Given the description of an element on the screen output the (x, y) to click on. 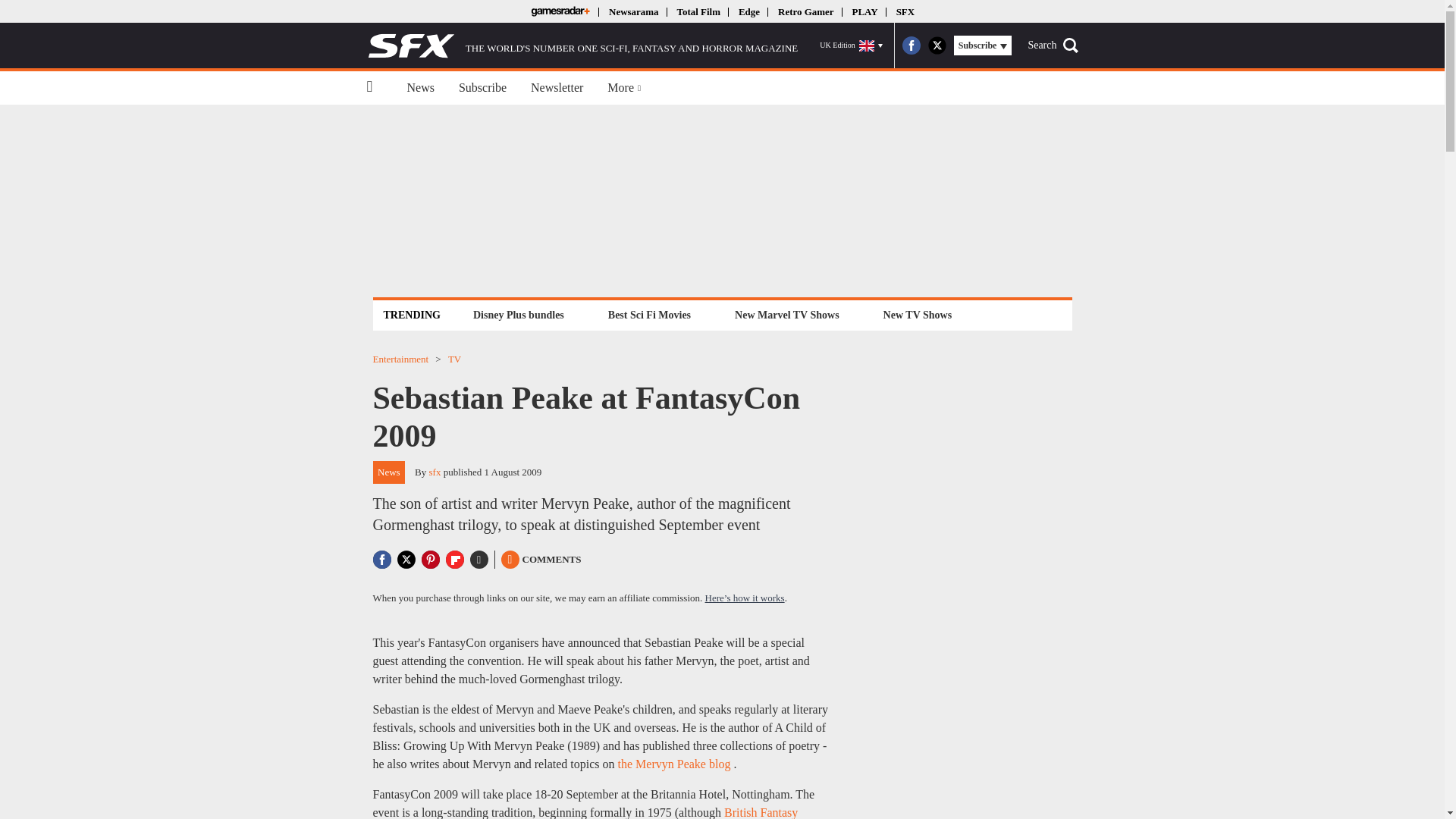
Newsarama (633, 11)
Newsletter (556, 87)
Edge (749, 11)
SFX (905, 11)
Retro Gamer (805, 11)
Subscribe (482, 87)
THE WORLD'S NUMBER ONE SCI-FI, FANTASY AND HORROR MAGAZINE (581, 44)
Entertainment (400, 358)
News (419, 87)
Total Film (698, 11)
